Given the description of an element on the screen output the (x, y) to click on. 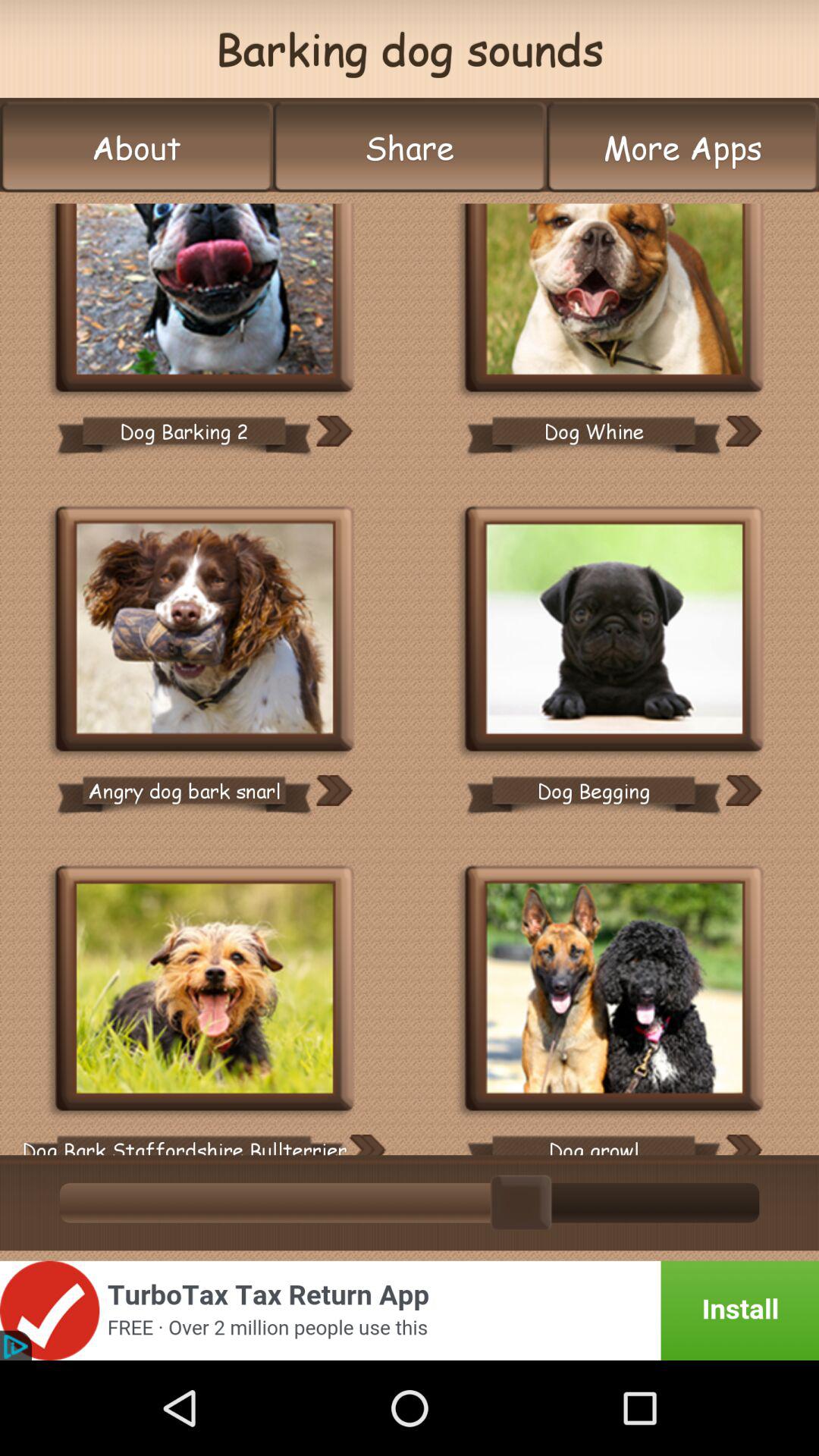
toggle dog bark sound (204, 990)
